Given the description of an element on the screen output the (x, y) to click on. 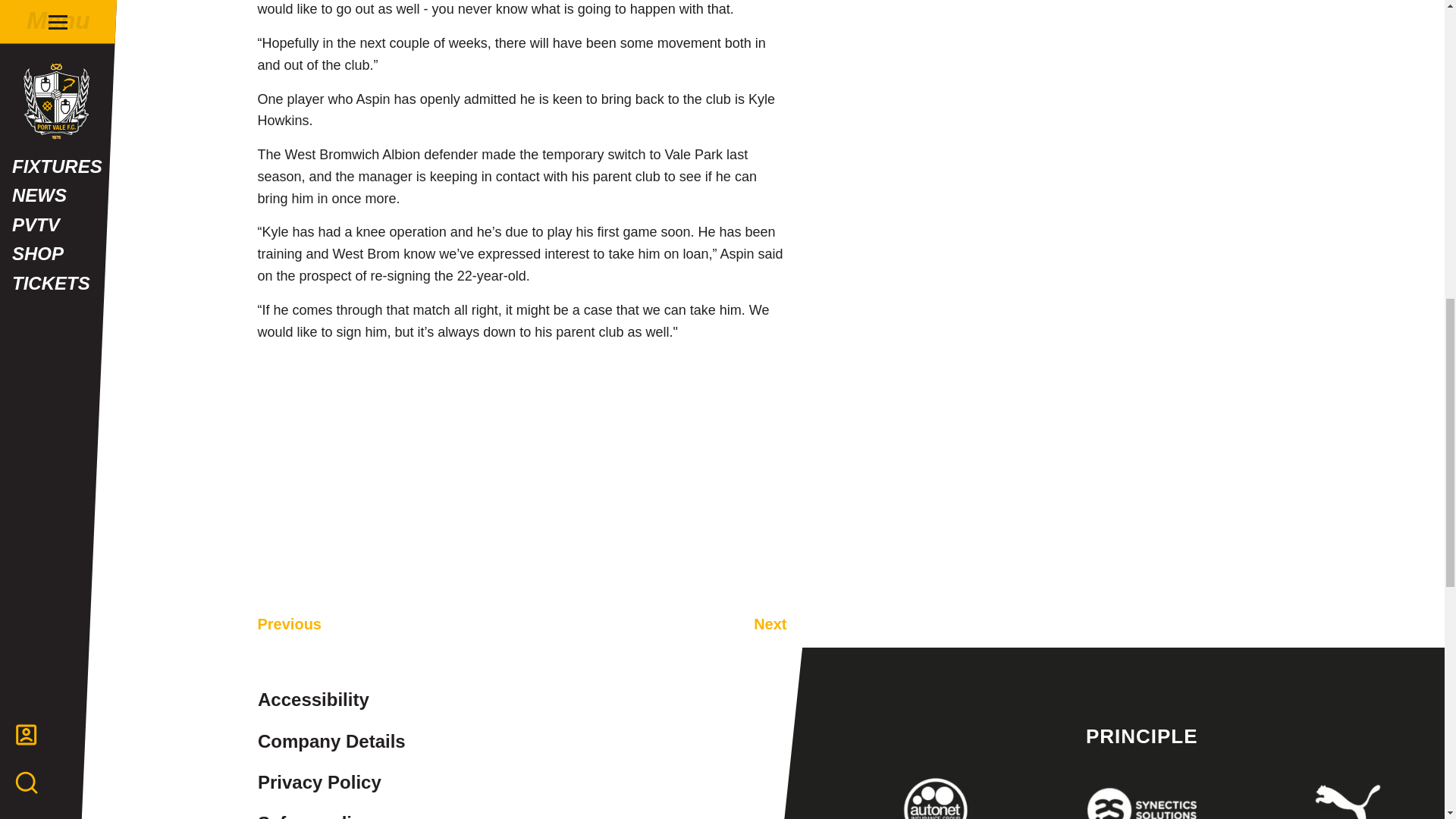
Synectics (1141, 794)
Puma (1348, 794)
Autonet (936, 794)
